Given the description of an element on the screen output the (x, y) to click on. 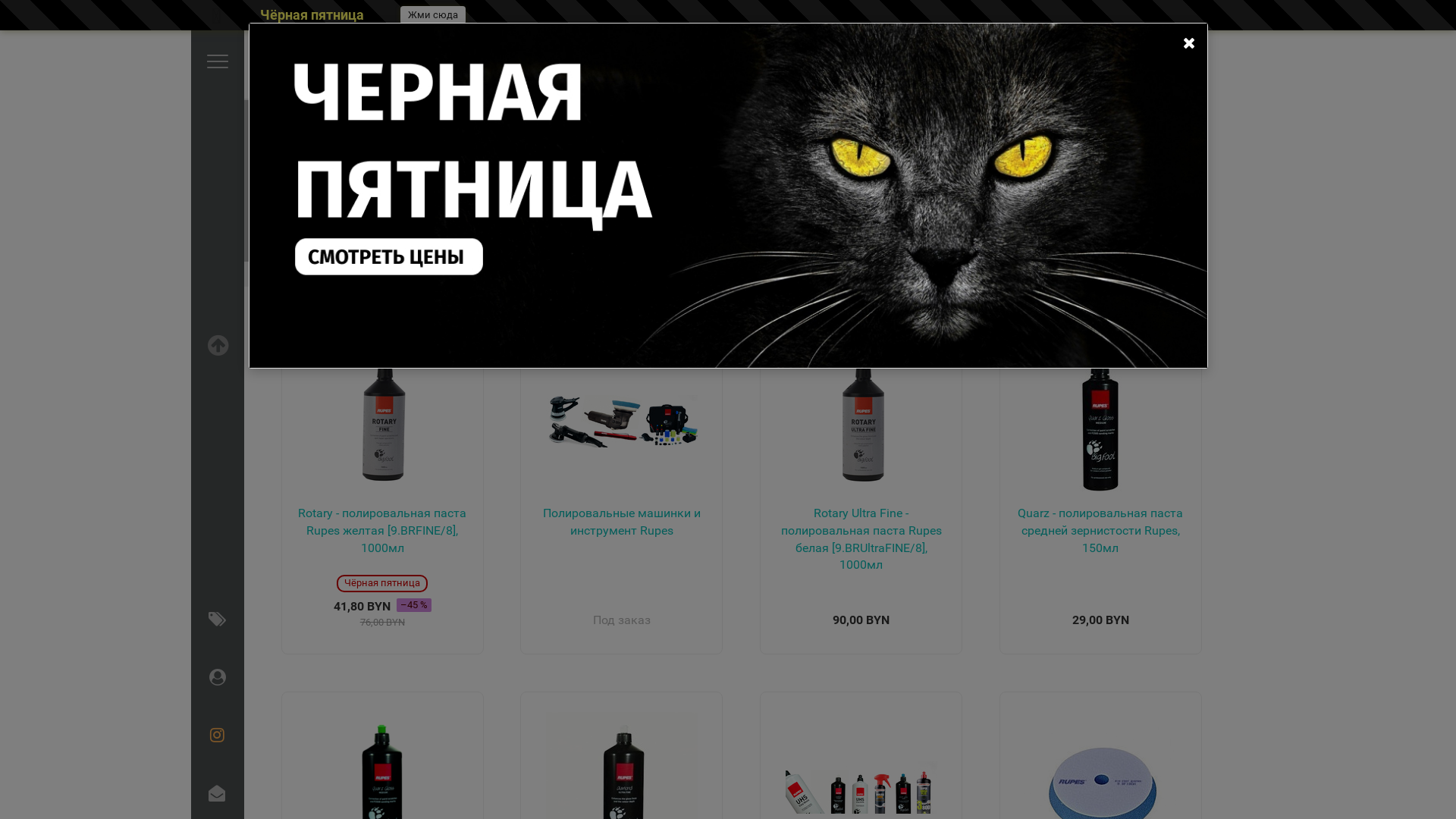
+375 29 877 12 13 Element type: text (992, 64)
